Given the description of an element on the screen output the (x, y) to click on. 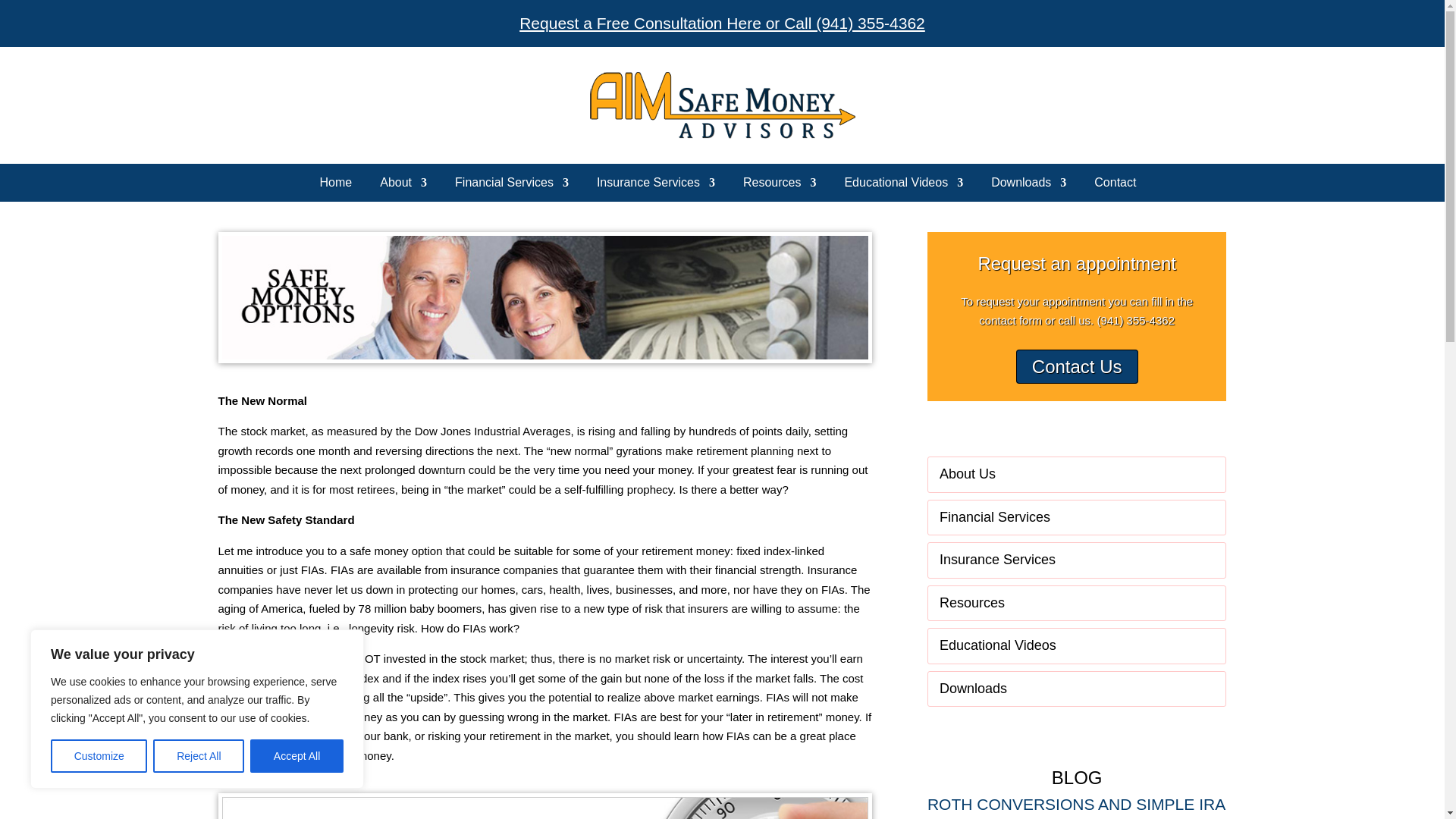
About (397, 185)
Home (330, 185)
Customize (98, 756)
Financial Services (506, 185)
Insurance Services (649, 185)
Reject All (198, 756)
Accept All (296, 756)
safe-money-2 (545, 806)
